Given the description of an element on the screen output the (x, y) to click on. 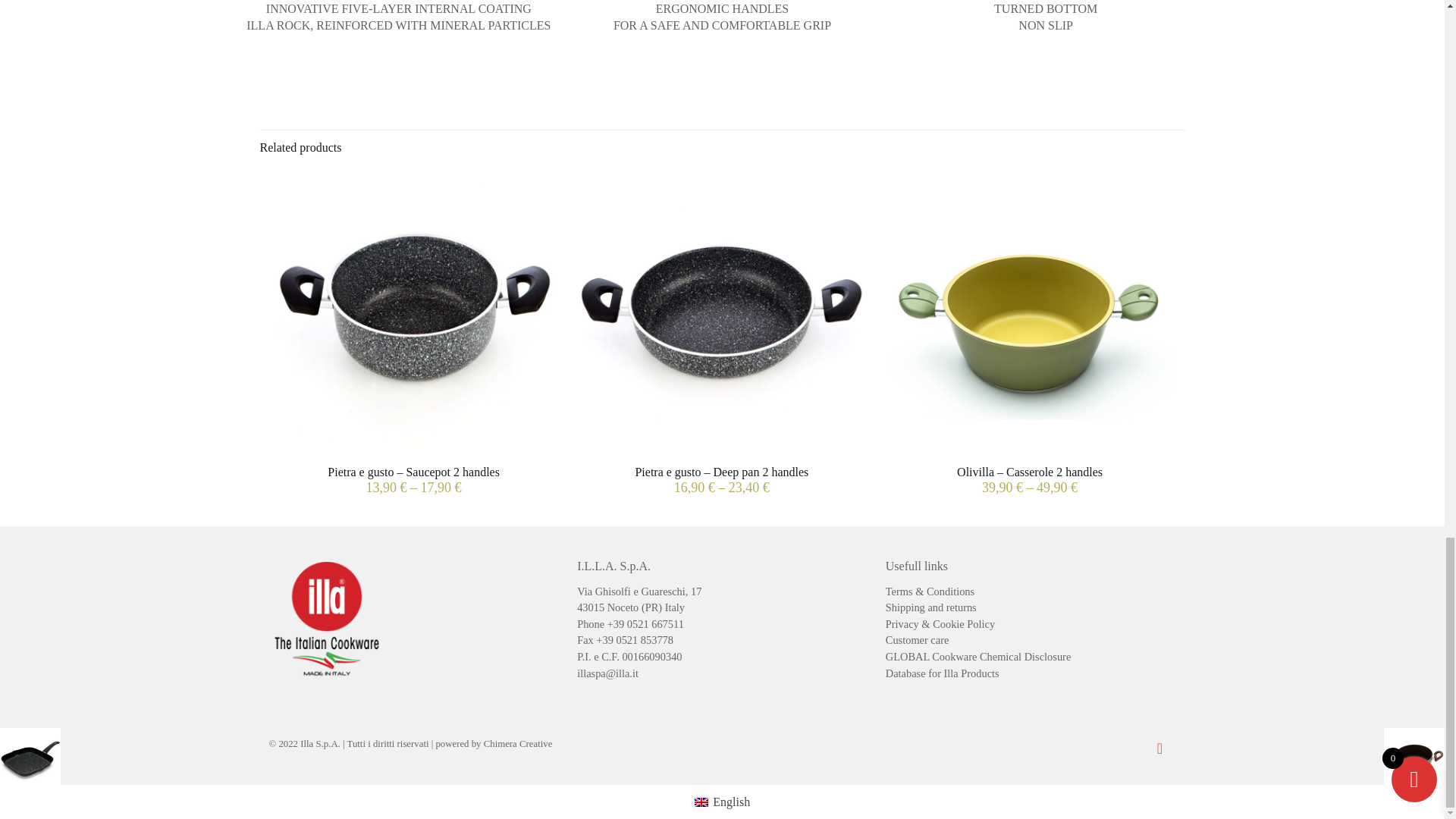
Instagram (1123, 745)
LinkedIn (1103, 745)
Facebook (1085, 745)
